Given the description of an element on the screen output the (x, y) to click on. 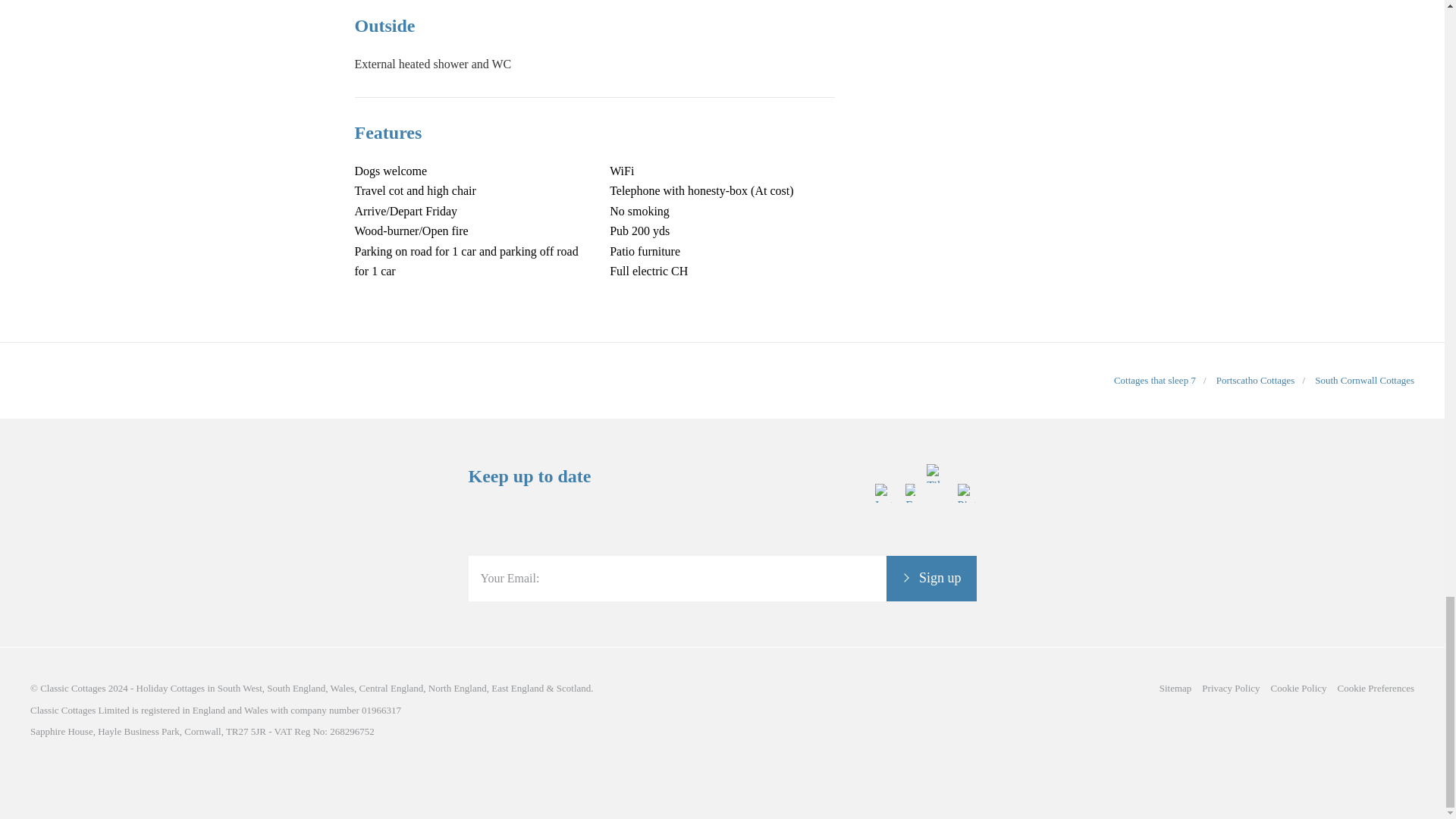
Follow Classic Cottages Tik Tok (935, 545)
Follow Classic Cottages Instagram (884, 545)
Follow Classic Cottages Pinterest (965, 545)
Cottages that sleep 7 (1154, 379)
